Given the description of an element on the screen output the (x, y) to click on. 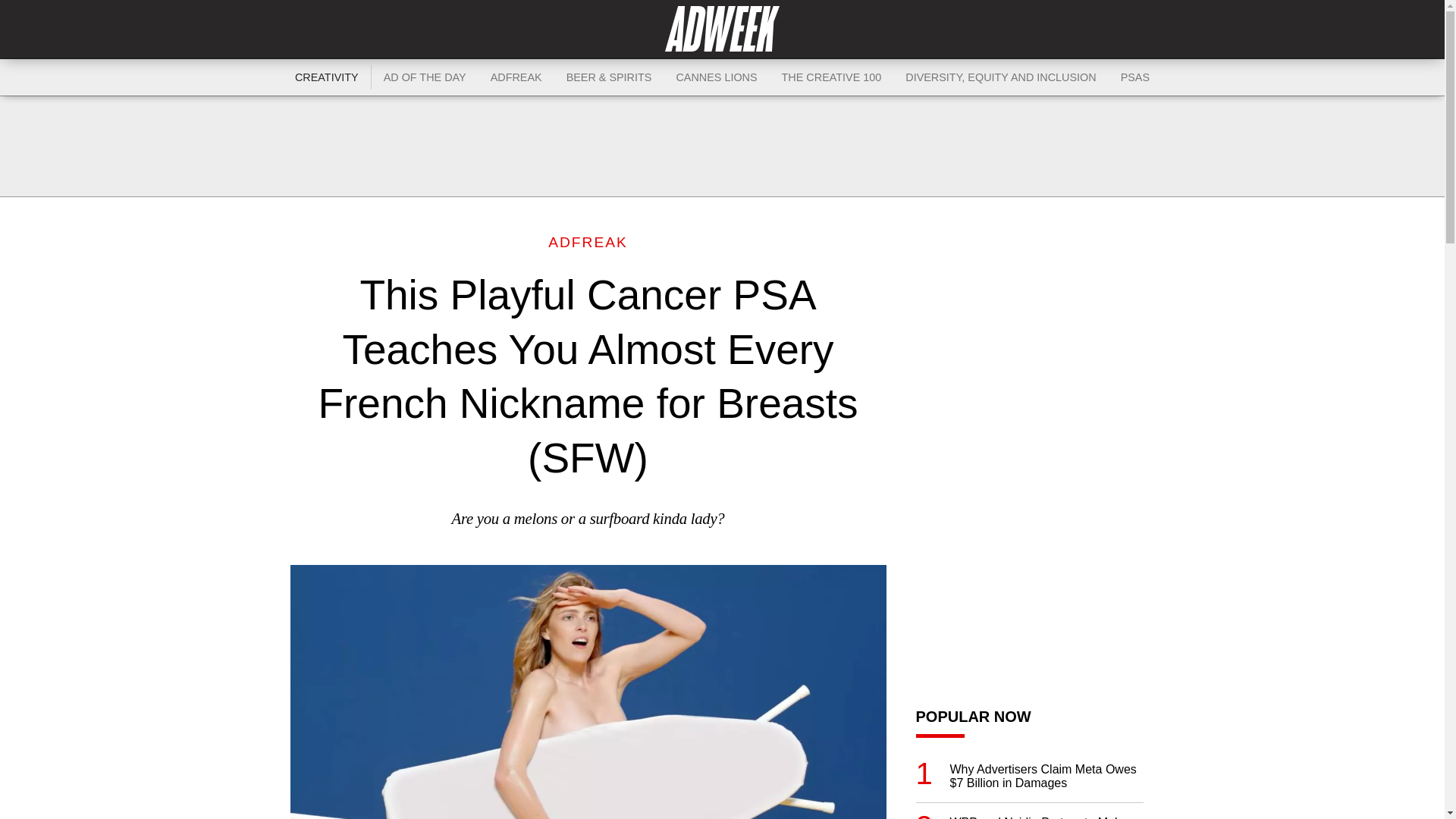
PSAS (1134, 77)
DIVERSITY, EQUITY AND INCLUSION (1000, 77)
WPP and Nvidia Partner to Make 3D Ads Using Gen AI (1045, 817)
CREATIVITY (326, 77)
THE CREATIVE 100 (831, 77)
ADFREAK (587, 242)
AD OF THE DAY (425, 77)
CANNES LIONS (715, 77)
ADFREAK (516, 77)
